Given the description of an element on the screen output the (x, y) to click on. 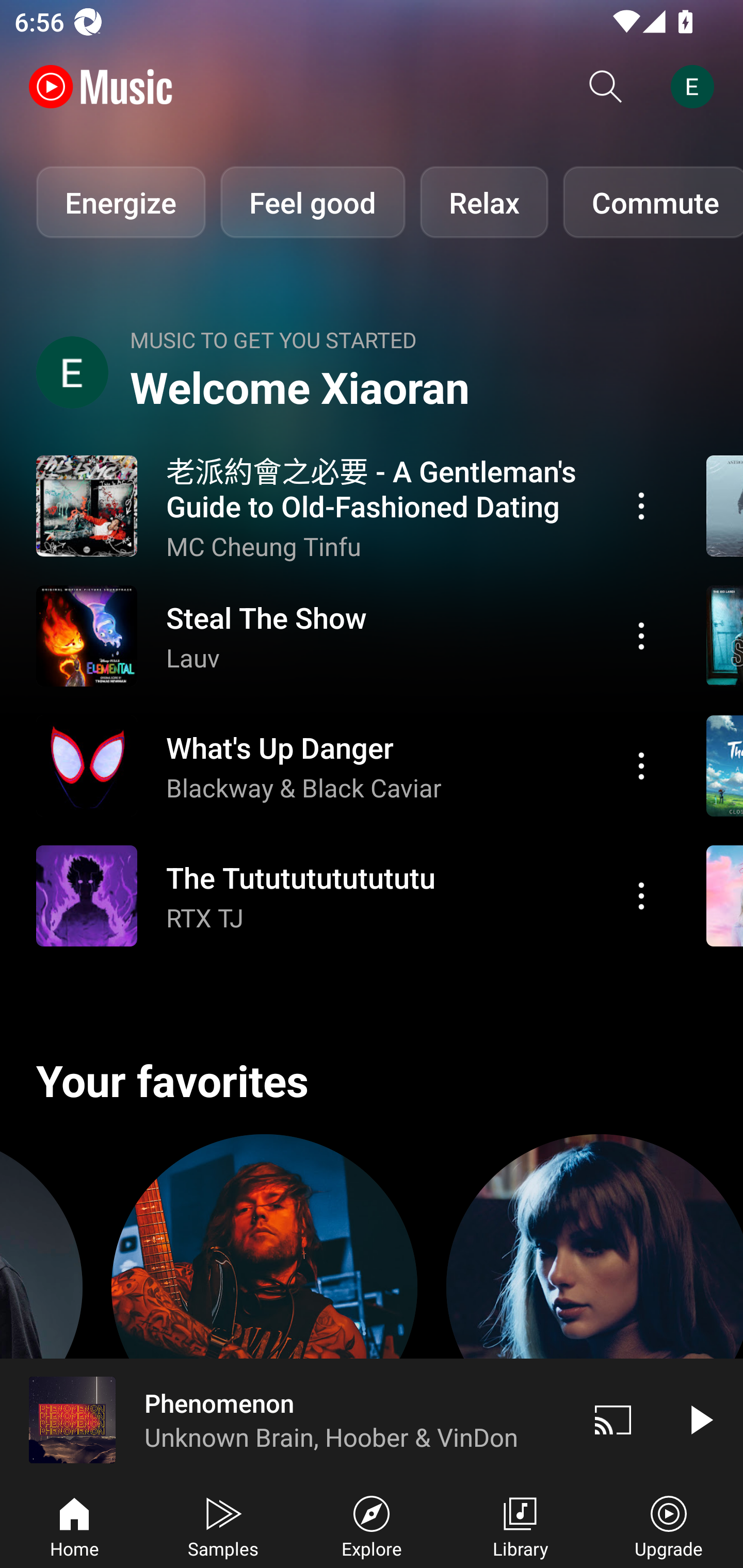
Search (605, 86)
Account (696, 86)
Action menu (349, 505)
Action menu (641, 505)
Action menu (349, 635)
Action menu (641, 635)
Action menu (349, 765)
Action menu (641, 765)
Action menu (349, 896)
Action menu (641, 896)
Phenomenon Unknown Brain, Hoober & VinDon (284, 1419)
Cast. Disconnected (612, 1419)
Play video (699, 1419)
Home (74, 1524)
Samples (222, 1524)
Explore (371, 1524)
Library (519, 1524)
Upgrade (668, 1524)
